Given the description of an element on the screen output the (x, y) to click on. 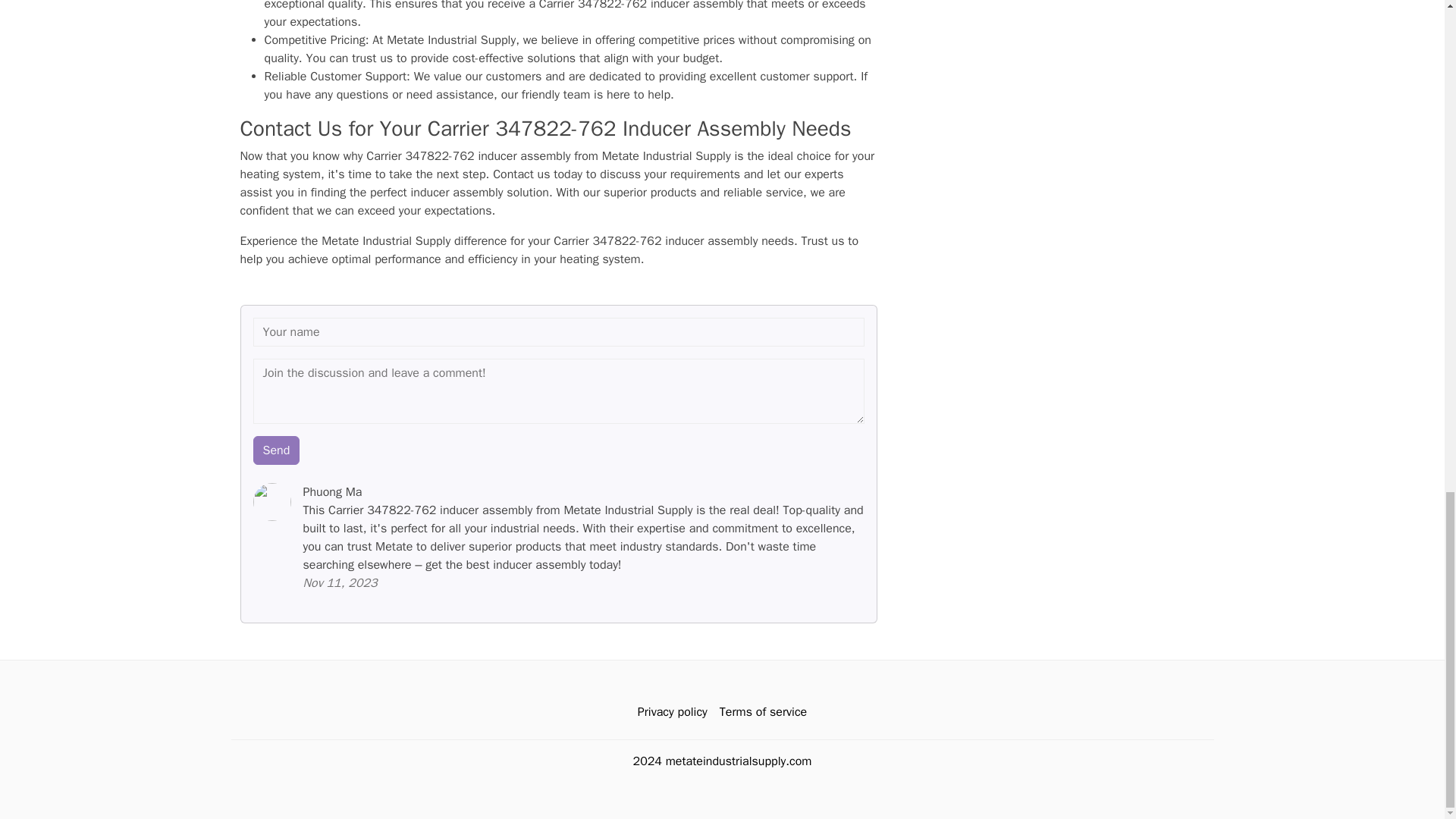
Send (276, 450)
Terms of service (762, 711)
Privacy policy (672, 711)
Send (276, 450)
